Given the description of an element on the screen output the (x, y) to click on. 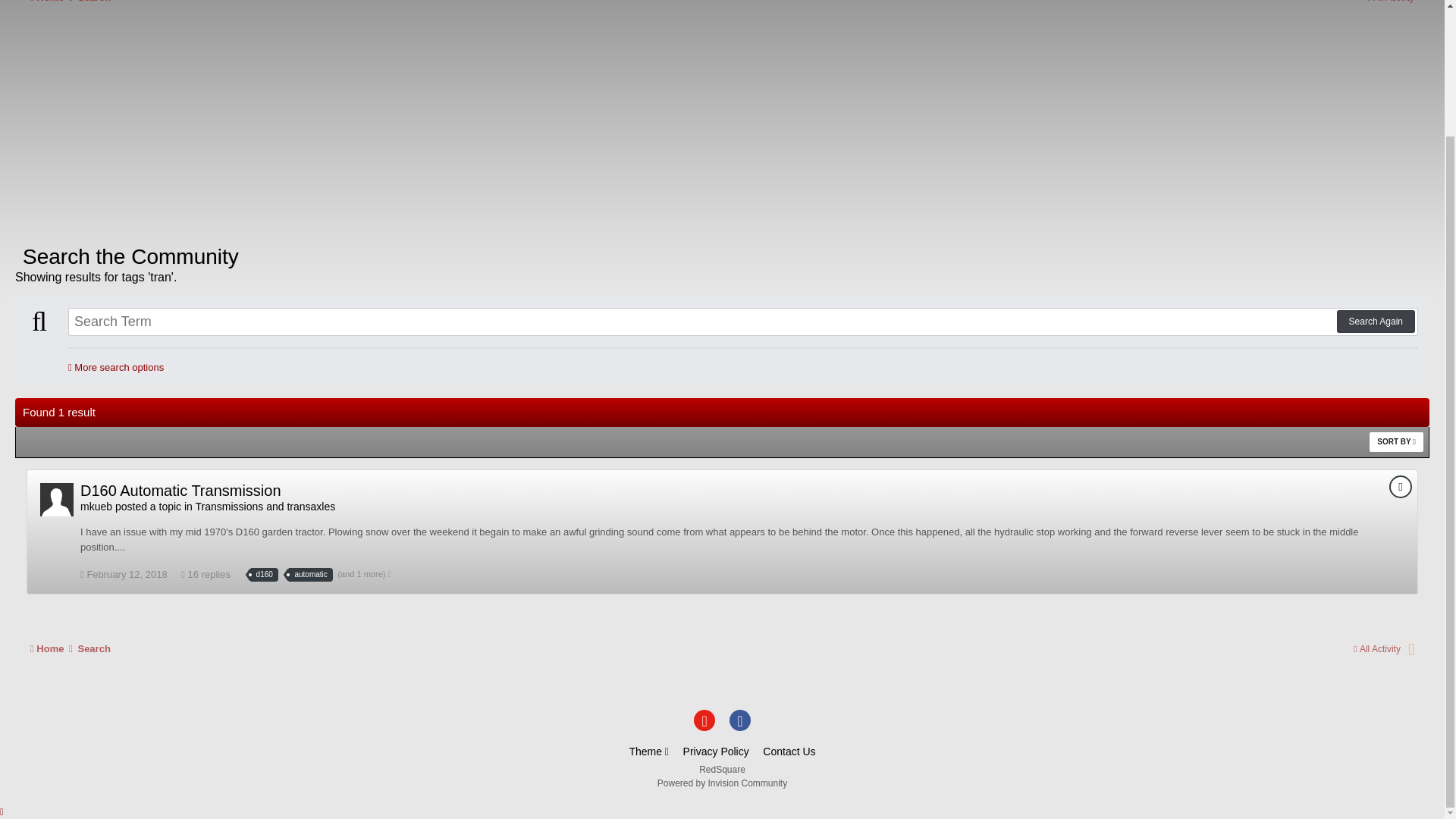
Advertisement (290, 130)
Invision Community (722, 783)
Find other content tagged with 'd160' (264, 574)
Home (52, 648)
Find other content tagged with 'automatic' (309, 574)
Topic (1400, 486)
Home (52, 1)
